Given the description of an element on the screen output the (x, y) to click on. 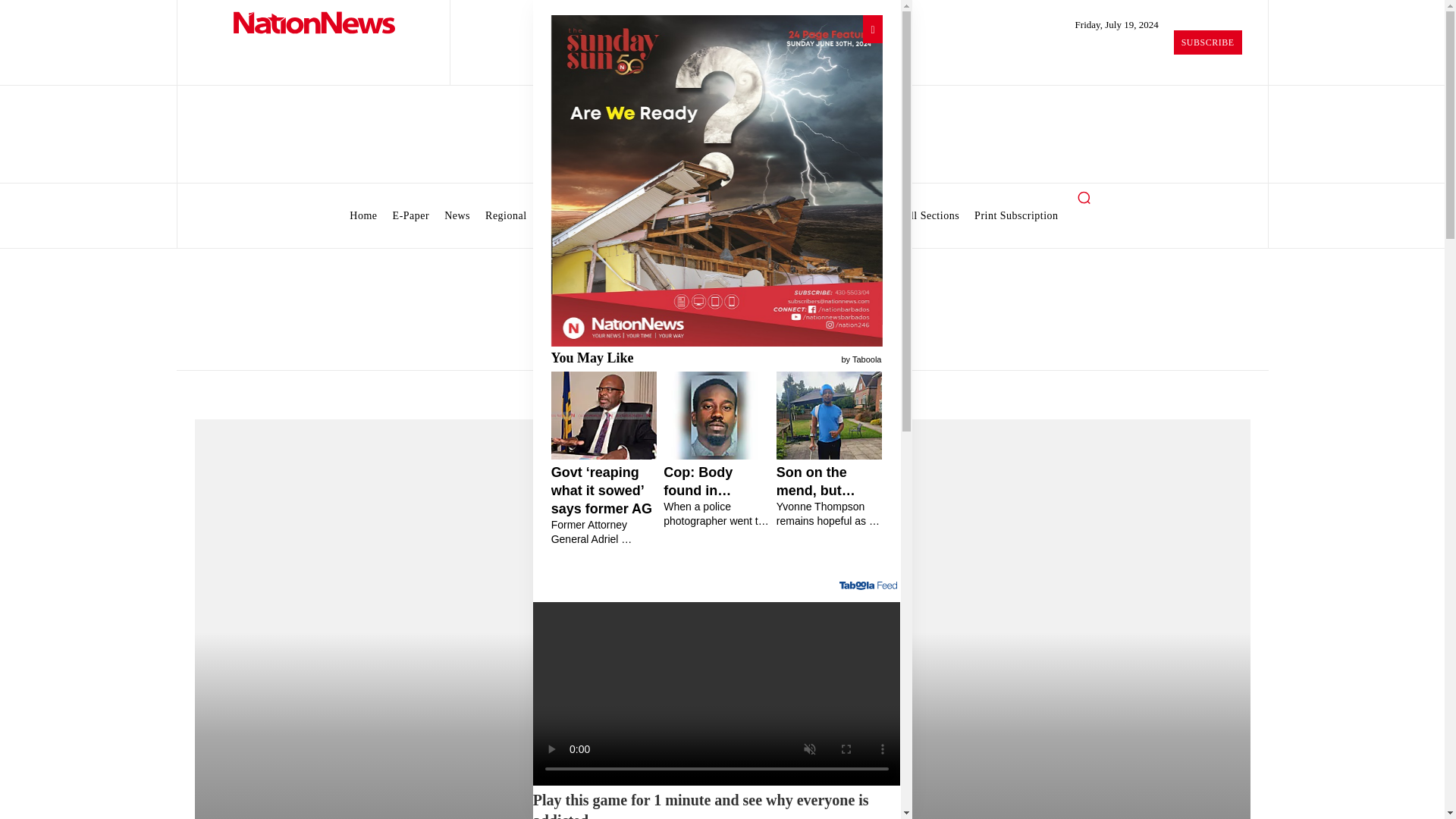
Cop: Body found in shallow grave (716, 495)
by Taboola (860, 357)
Son on the mend, but rehab costly (829, 495)
HURICANE Social-01 (716, 180)
